Given the description of an element on the screen output the (x, y) to click on. 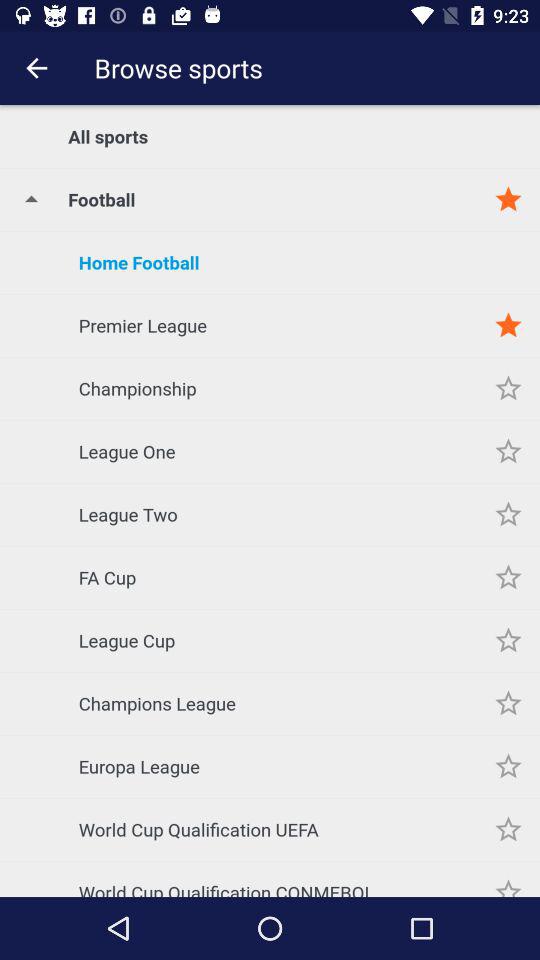
favorite this selection (508, 766)
